Given the description of an element on the screen output the (x, y) to click on. 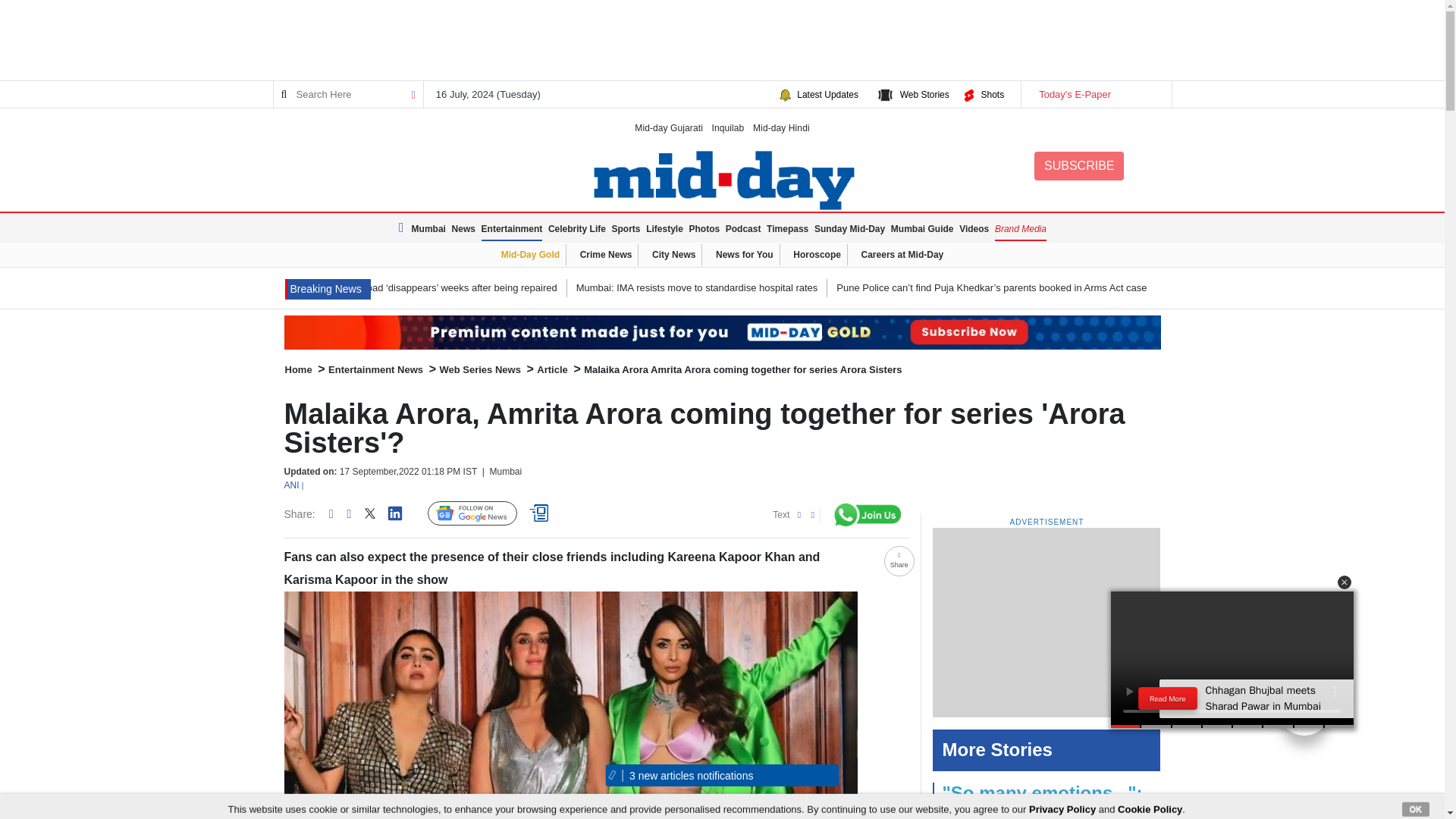
Midday Shot Videos (1304, 706)
Quick Reads (541, 513)
Today's E-Paper (1095, 94)
Latest News (328, 289)
Web Stories (924, 94)
SUBSCRIBE (1078, 165)
Mid-day Hindi (780, 127)
Latest News (403, 227)
Latest Updates (827, 94)
Shots (991, 94)
Inquilab (728, 127)
Subscription (721, 332)
Mid-day Gujarati (668, 127)
